Given the description of an element on the screen output the (x, y) to click on. 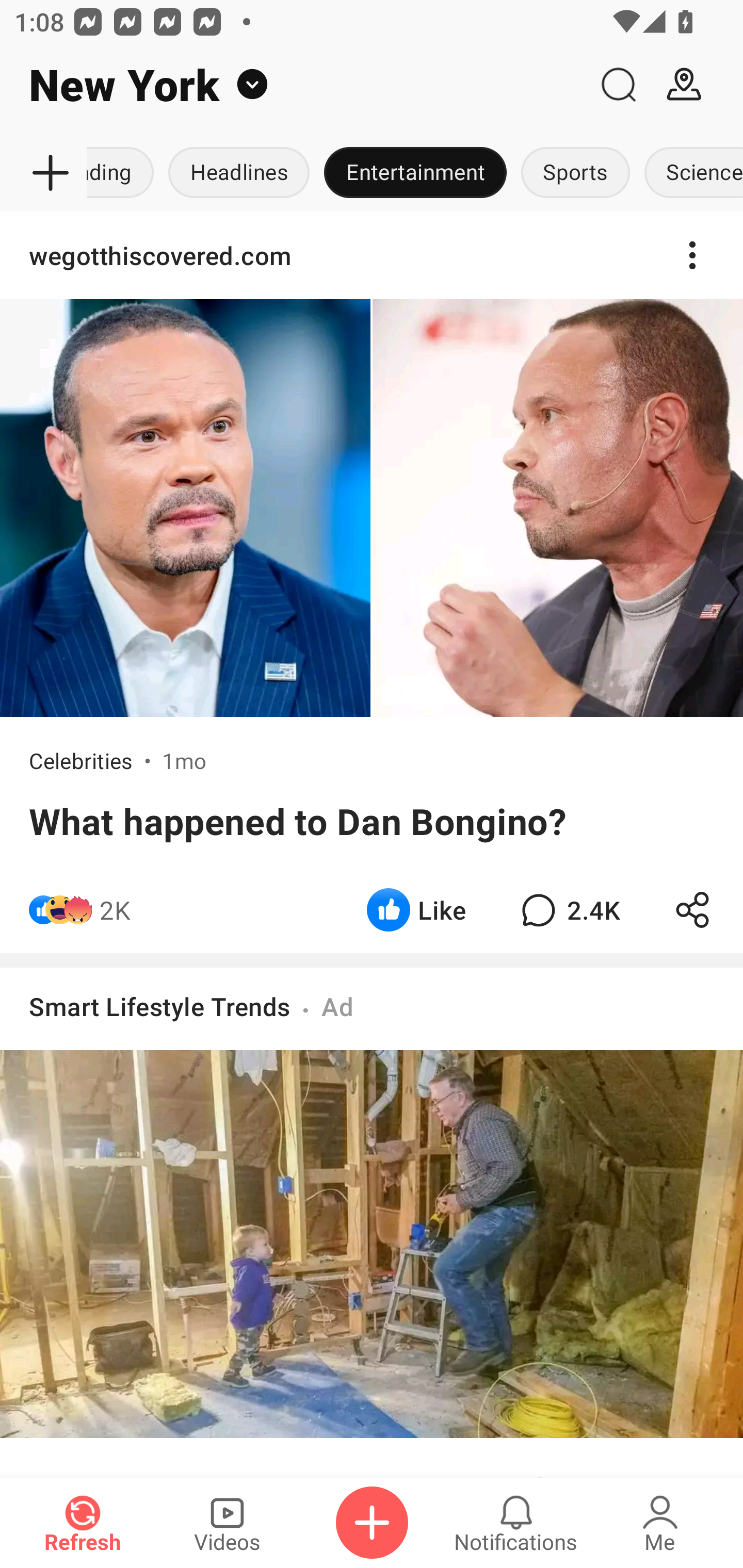
New York (292, 84)
Trending (123, 172)
Headlines (238, 172)
Entertainment (415, 172)
Sports (575, 172)
Science (690, 172)
wegotthiscovered.com (371, 255)
2K (114, 910)
Like (416, 910)
2.4K (568, 910)
Smart Lifestyle Trends (159, 1006)
Videos (227, 1522)
Notifications (516, 1522)
Me (659, 1522)
